Given the description of an element on the screen output the (x, y) to click on. 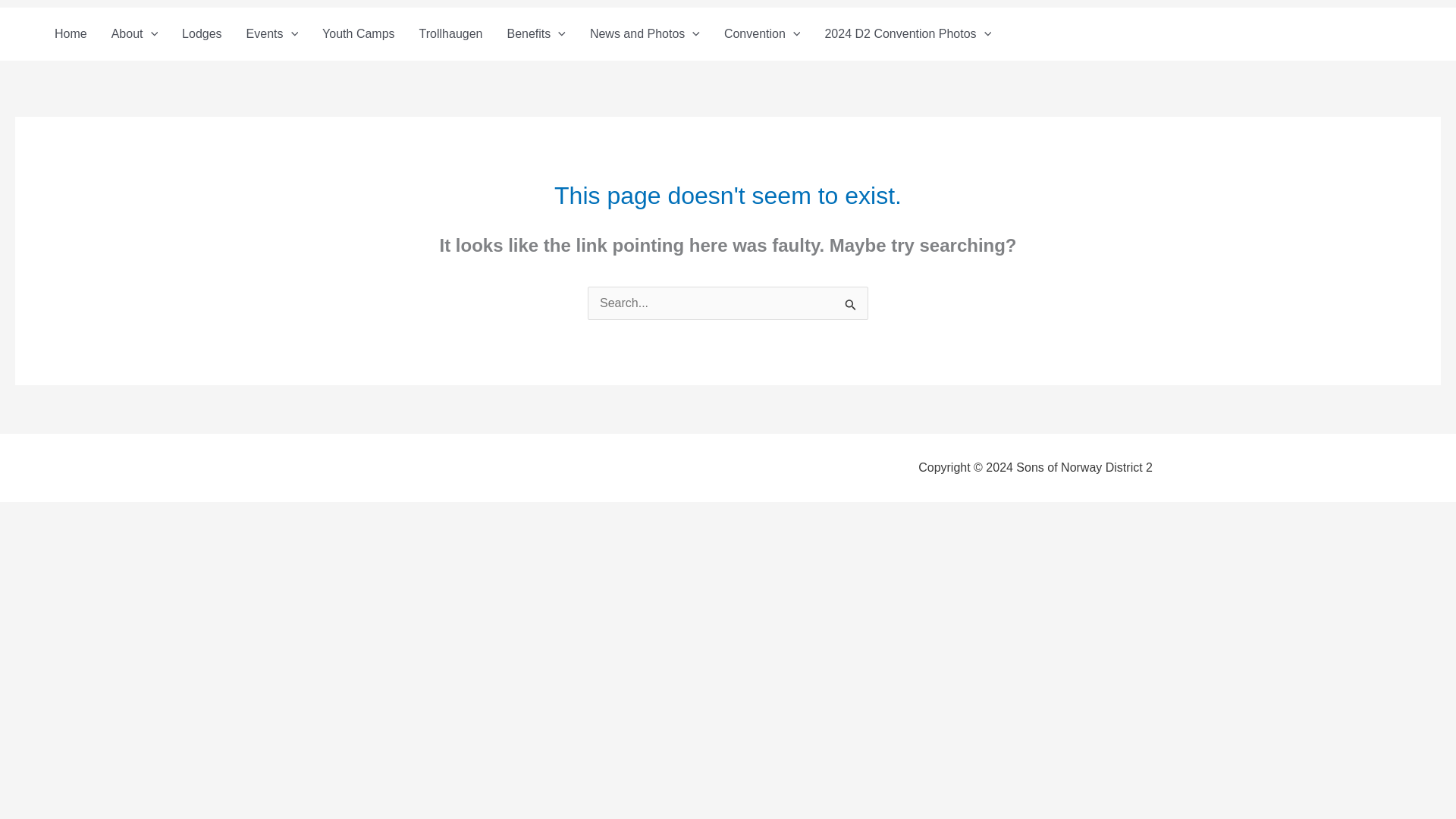
Lodges (202, 33)
Youth Camps (358, 33)
Events (272, 33)
Convention (761, 33)
Benefits (535, 33)
About (134, 33)
Search (850, 305)
Home (70, 33)
Search (850, 305)
Trollhaugen (451, 33)
News and Photos (644, 33)
